Given the description of an element on the screen output the (x, y) to click on. 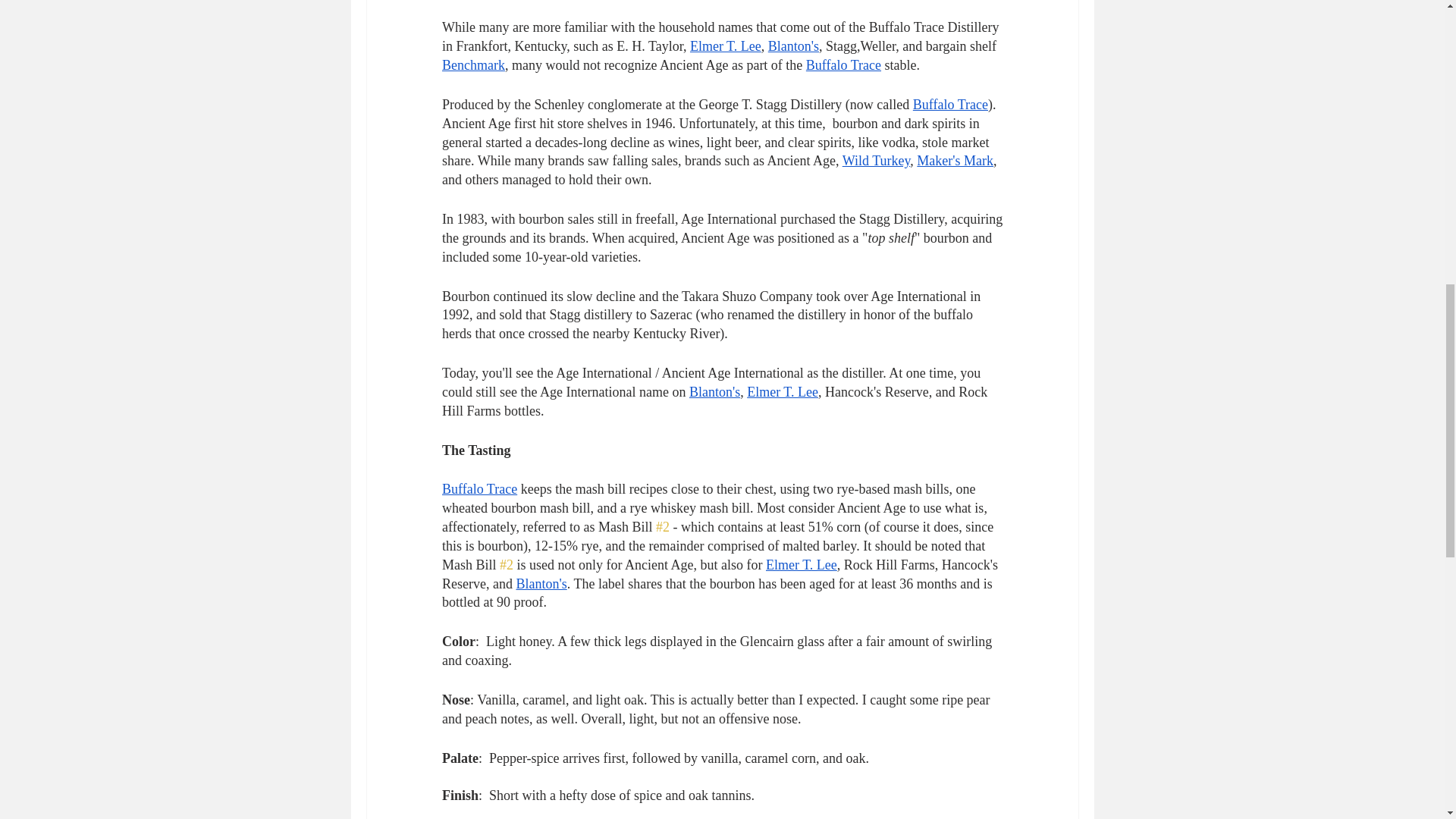
Maker's Mark (954, 160)
Elmer T. Lee (782, 391)
Buffalo Trace (842, 64)
Elmer T. Lee (724, 46)
Blanton's (713, 391)
Buffalo Trace (478, 488)
Wild Turkey (875, 160)
Blanton's (540, 583)
Elmer T. Lee (800, 564)
Buffalo Trace (949, 104)
